Given the description of an element on the screen output the (x, y) to click on. 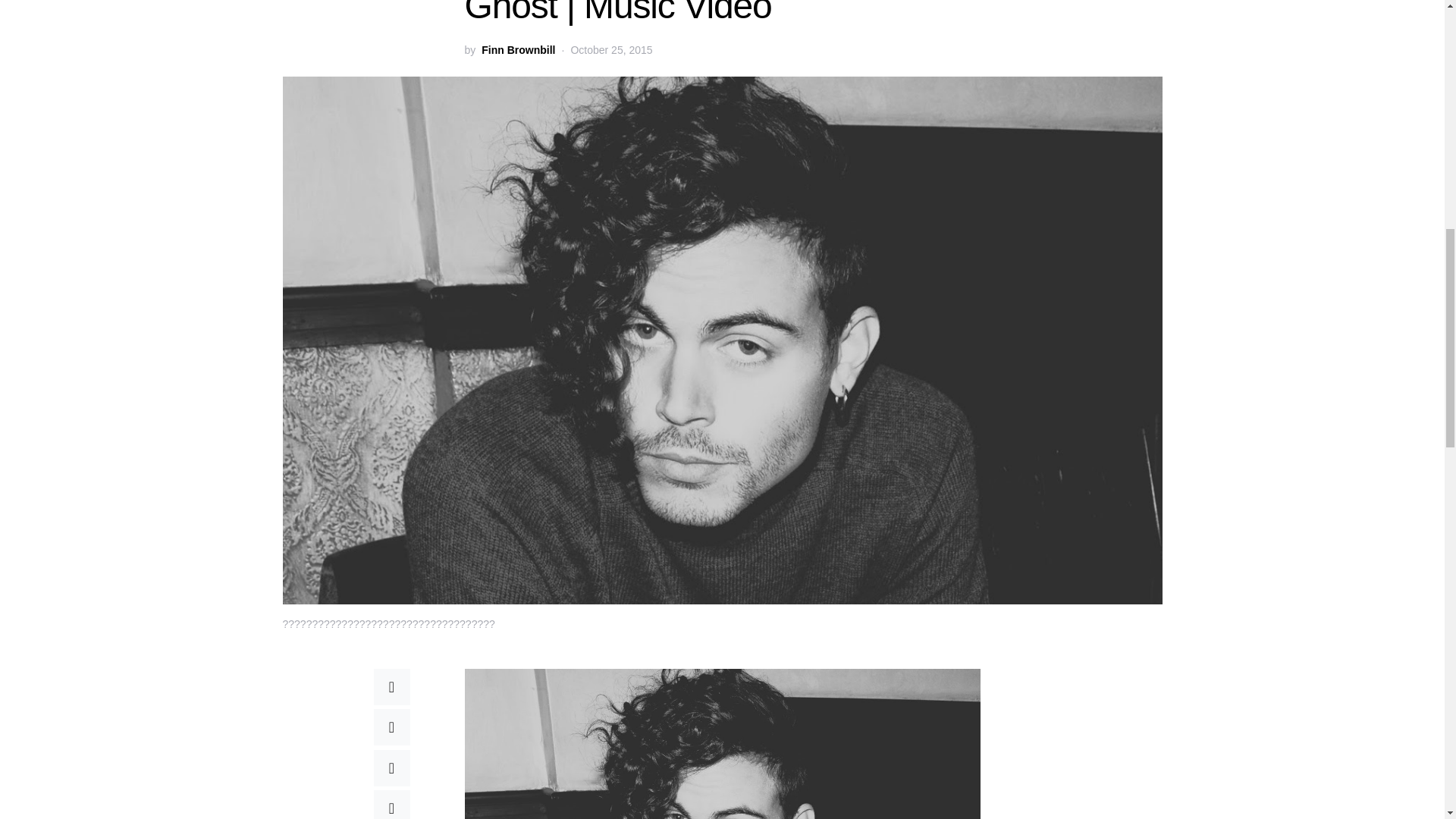
View all posts by Finn Brownbill (517, 50)
